Given the description of an element on the screen output the (x, y) to click on. 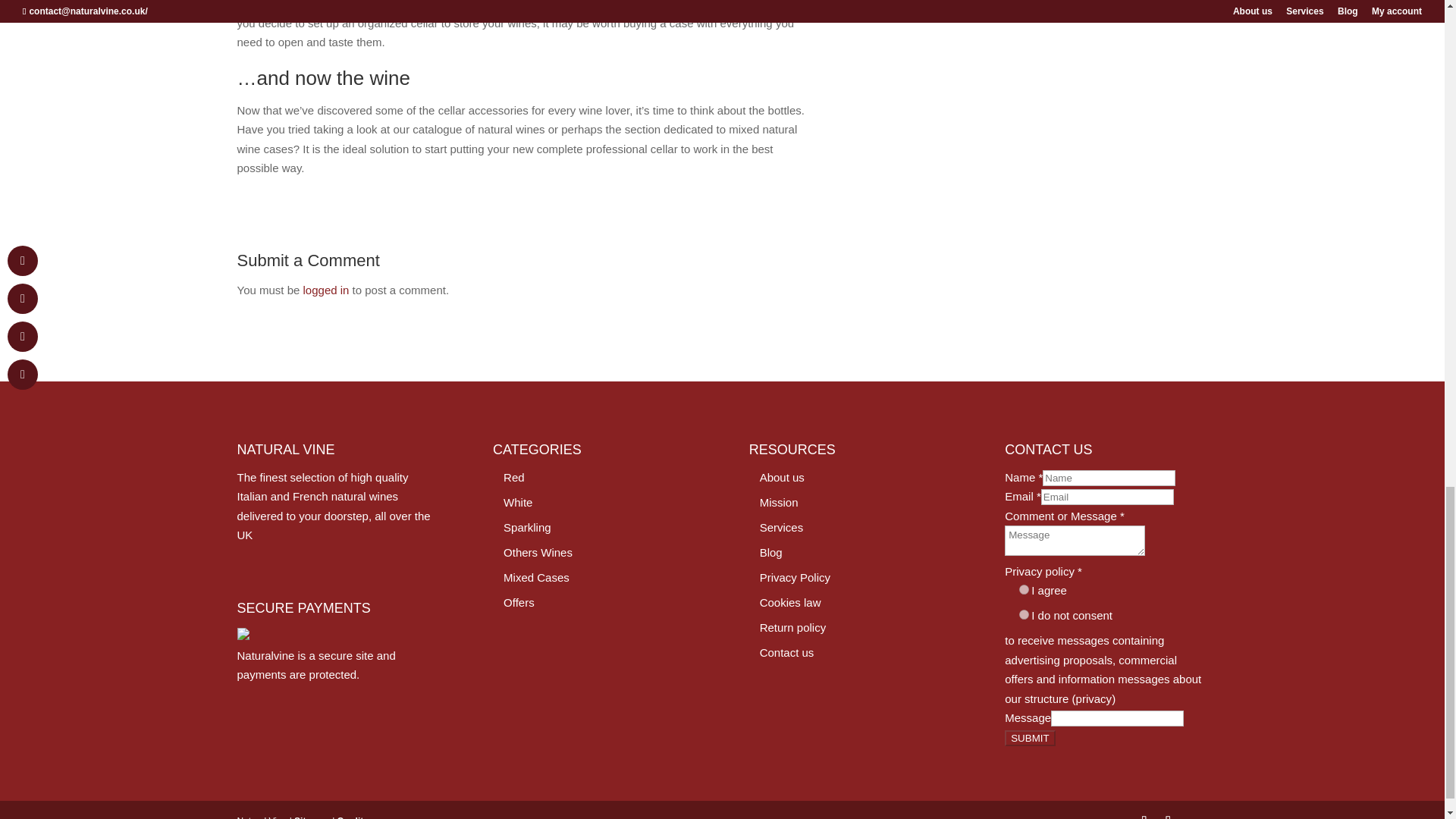
I do not consent (1024, 614)
I agree (1024, 589)
logged in (325, 288)
